Given the description of an element on the screen output the (x, y) to click on. 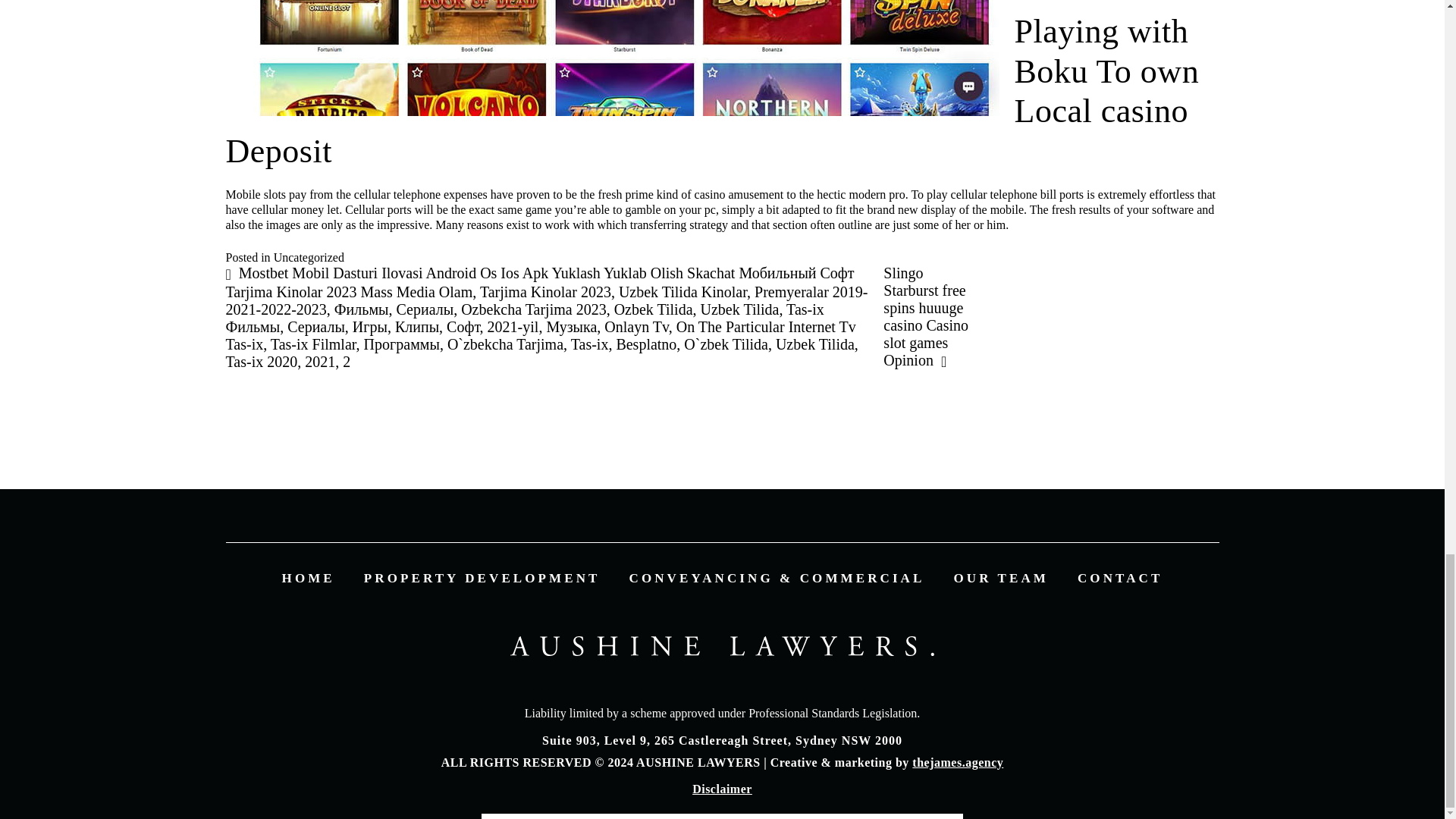
HOME (308, 577)
Disclaimer (722, 788)
PROPERTY DEVELOPMENT (481, 577)
CONTACT (1119, 577)
Uncategorized (308, 256)
OUR TEAM (1000, 577)
thejames.agency (957, 762)
Suite 903, Level 9, 265 Castlereagh Street, Sydney NSW 2000 (721, 739)
Disclaimer (722, 788)
